Given the description of an element on the screen output the (x, y) to click on. 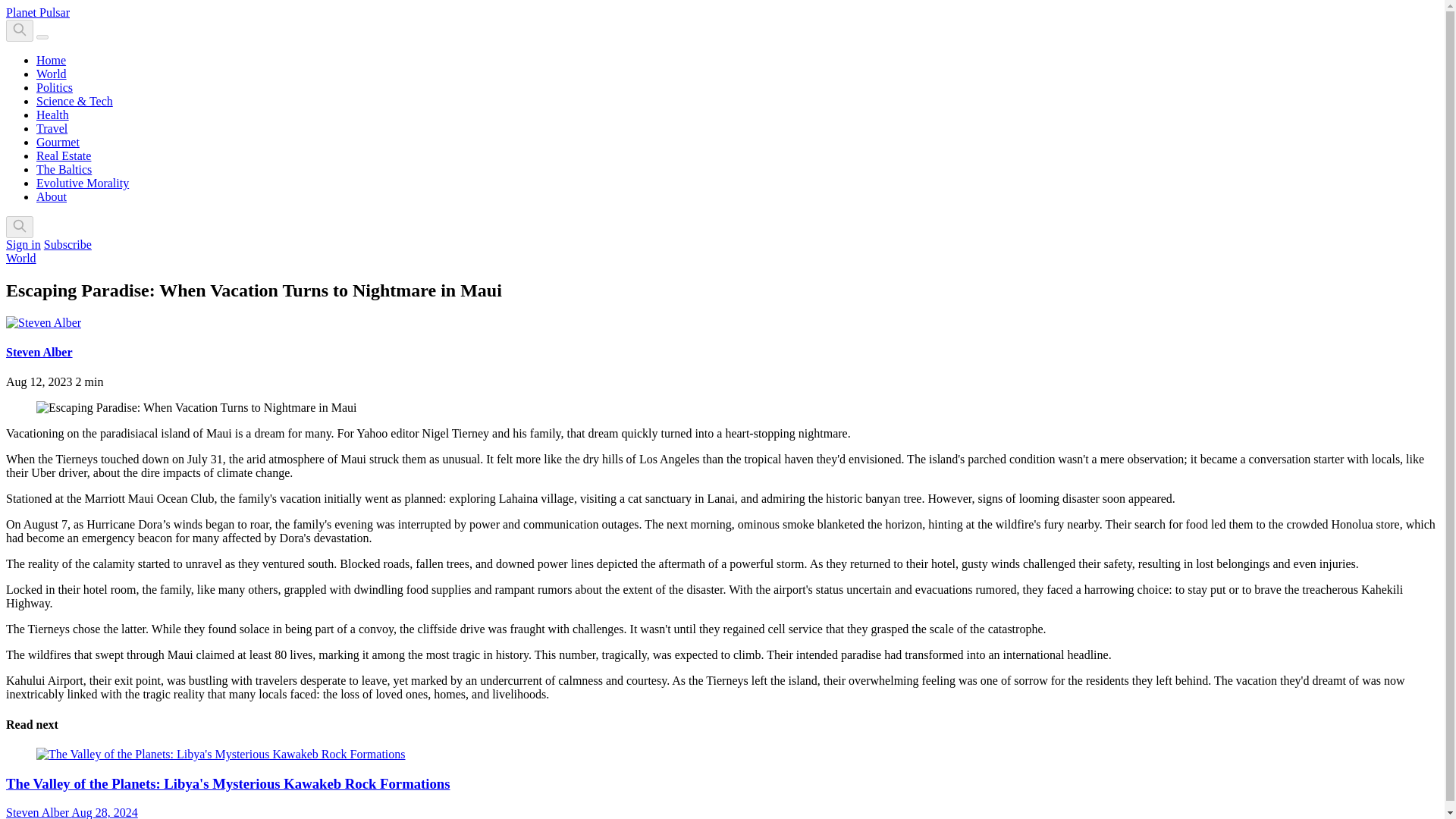
Home (50, 60)
Politics (54, 87)
Real Estate (63, 155)
Planet Pulsar (37, 11)
Subscribe (67, 244)
Evolutive Morality (82, 182)
About (51, 196)
Health (52, 114)
Travel (51, 128)
The Baltics (63, 169)
